Given the description of an element on the screen output the (x, y) to click on. 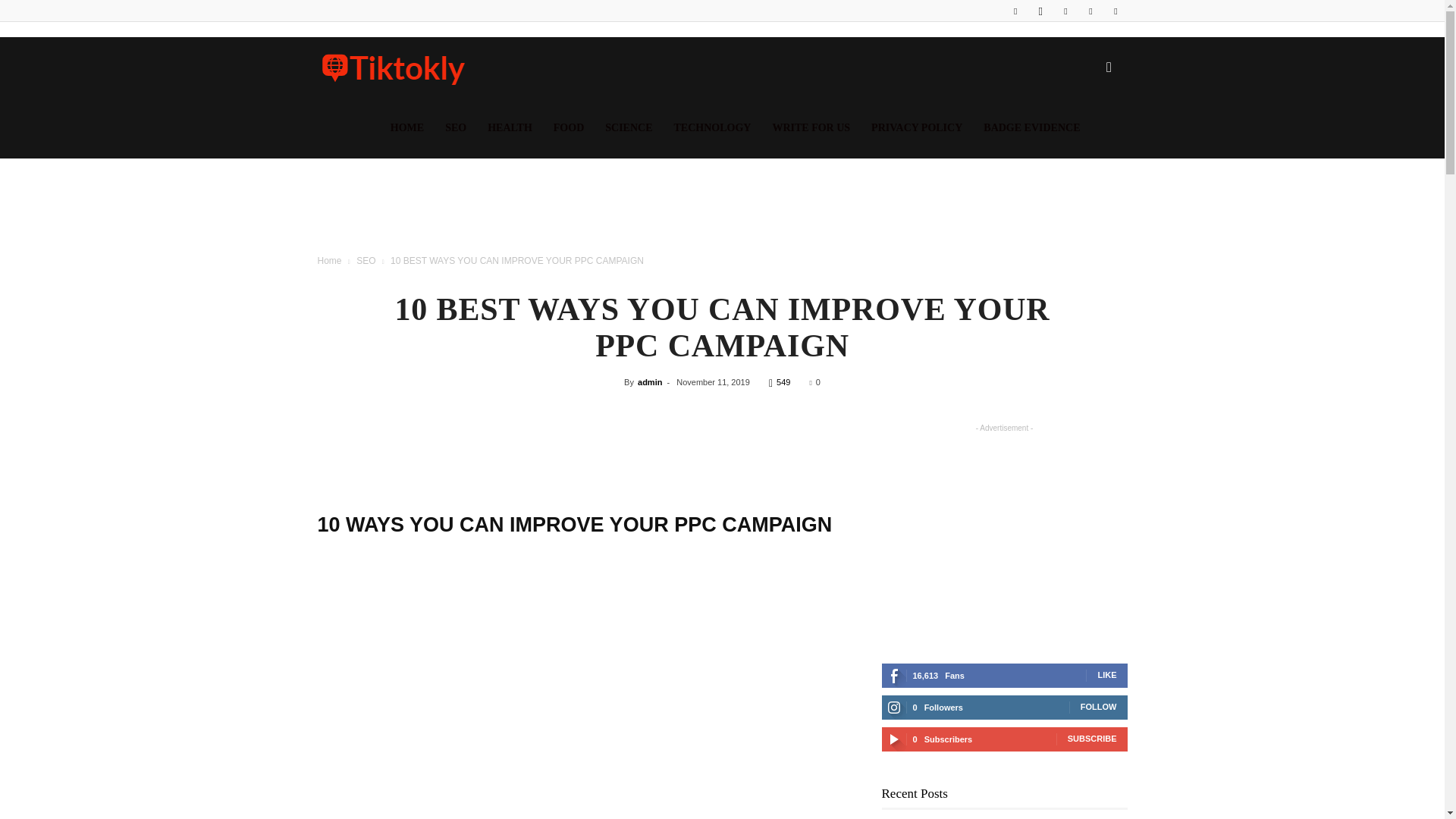
Instagram (1040, 10)
Youtube (1114, 10)
Vimeo (1090, 10)
View all posts in SEO (365, 260)
Facebook (1015, 10)
Twitter (1065, 10)
